Given the description of an element on the screen output the (x, y) to click on. 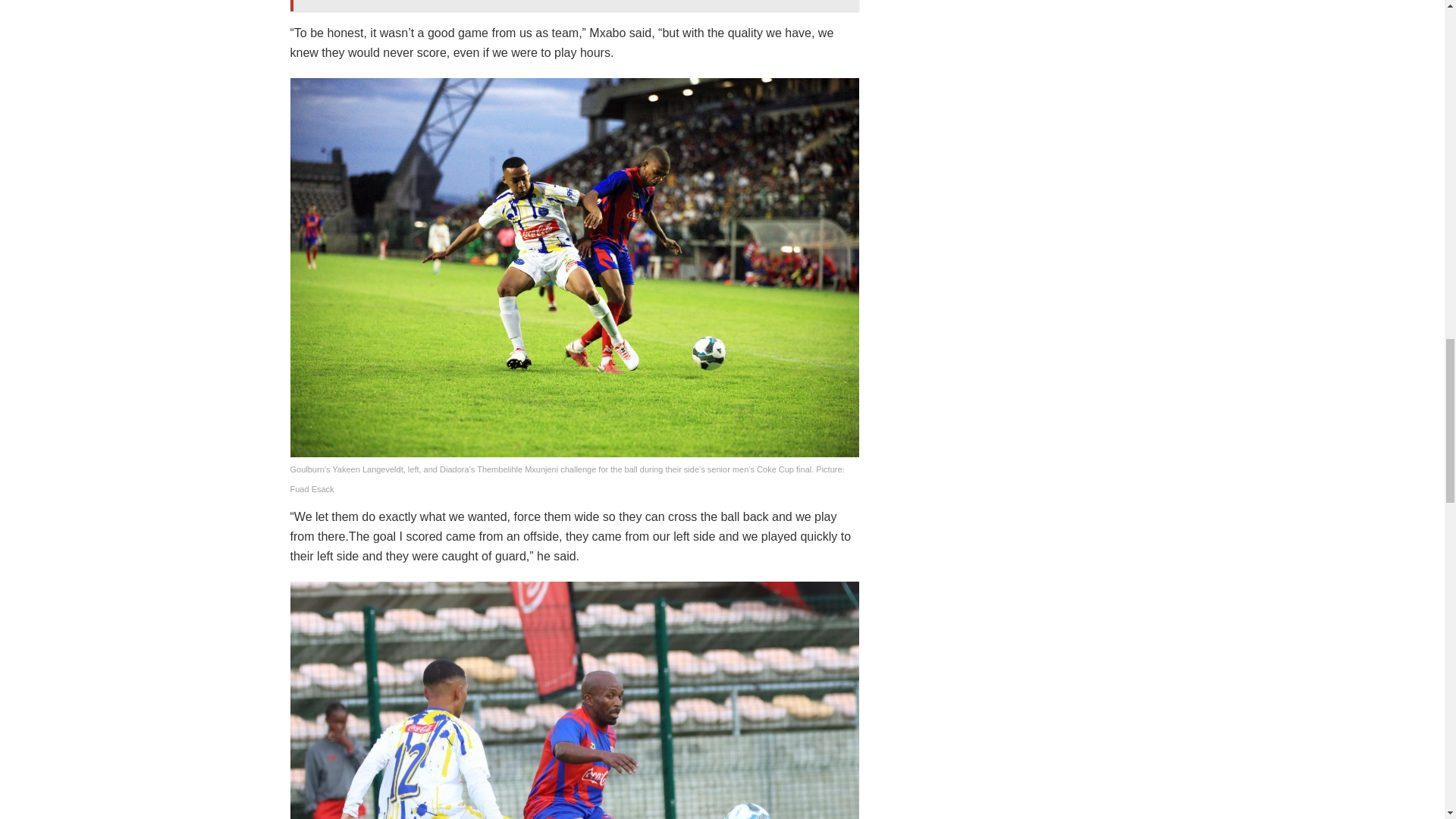
3rd party ad content (1007, 47)
READ  Hard work pays off for promising fighter (574, 5)
